Given the description of an element on the screen output the (x, y) to click on. 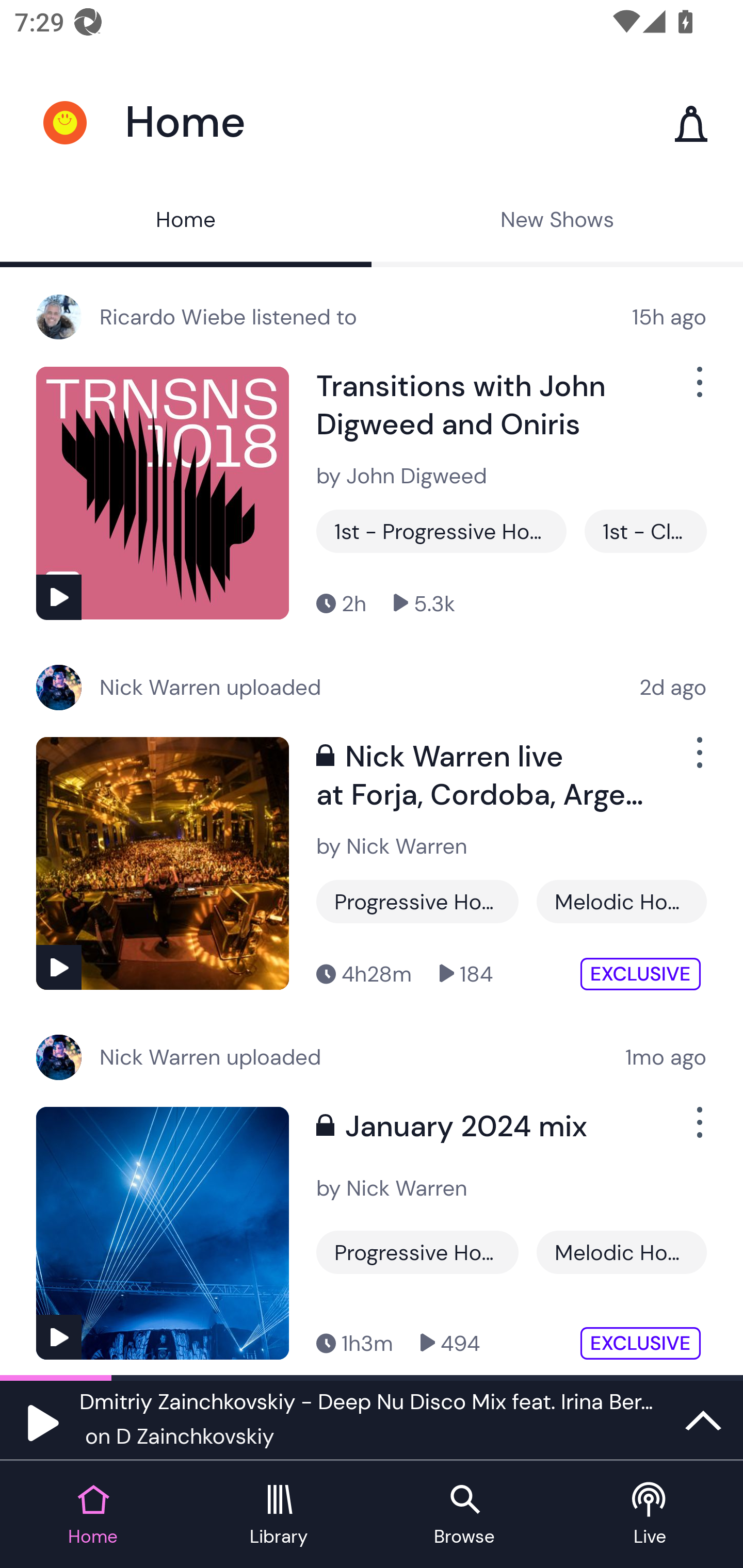
Home (185, 221)
New Shows (557, 221)
Show Options Menu Button (697, 389)
1st - Progressive House (441, 531)
1st - Club (645, 531)
Show Options Menu Button (697, 760)
Progressive House (417, 901)
Melodic House (621, 901)
Show Options Menu Button (697, 1130)
Progressive House (417, 1251)
Melodic House (621, 1251)
Home tab Home (92, 1515)
Library tab Library (278, 1515)
Browse tab Browse (464, 1515)
Live tab Live (650, 1515)
